Given the description of an element on the screen output the (x, y) to click on. 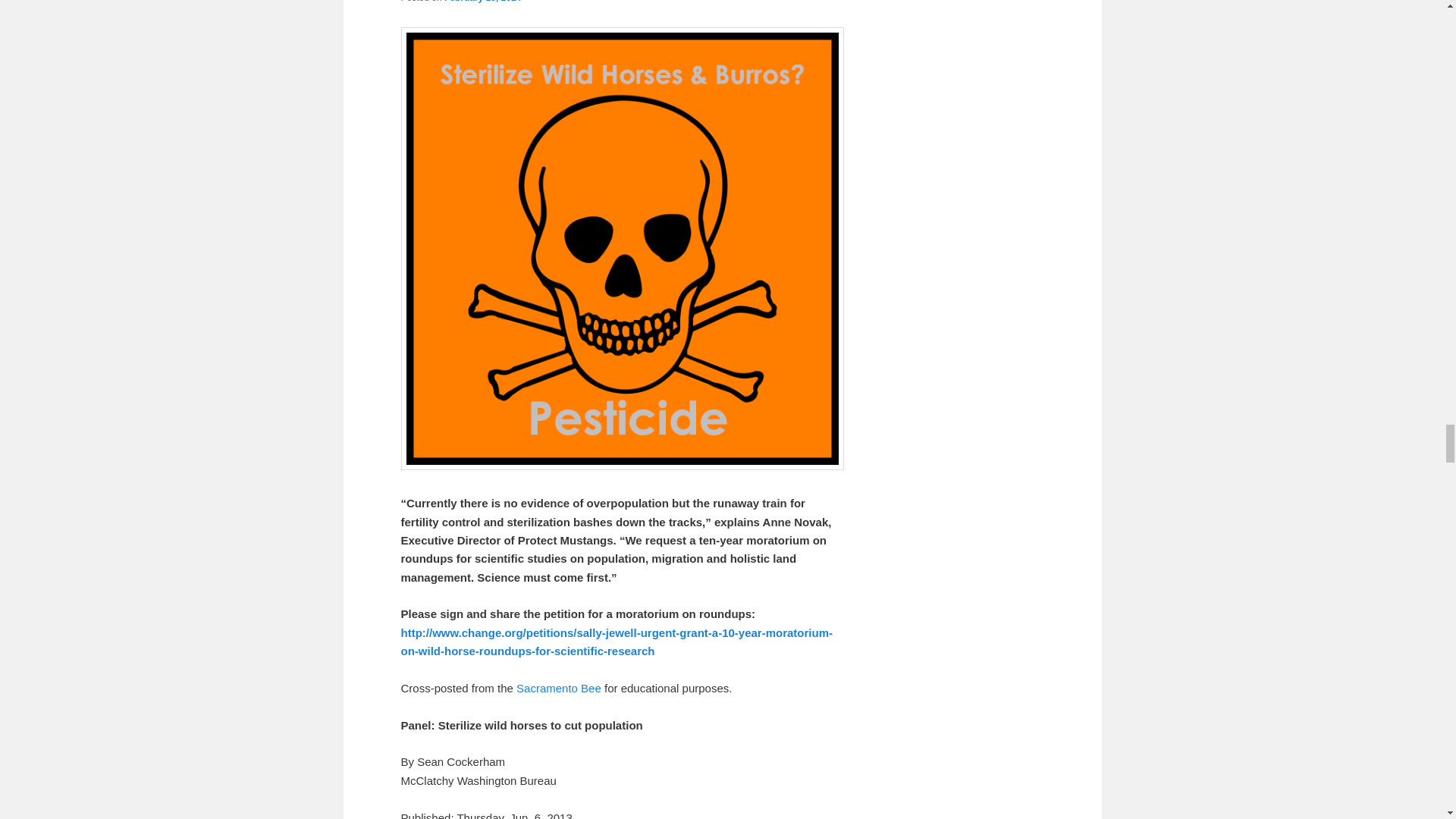
12:48 am (482, 1)
